Given the description of an element on the screen output the (x, y) to click on. 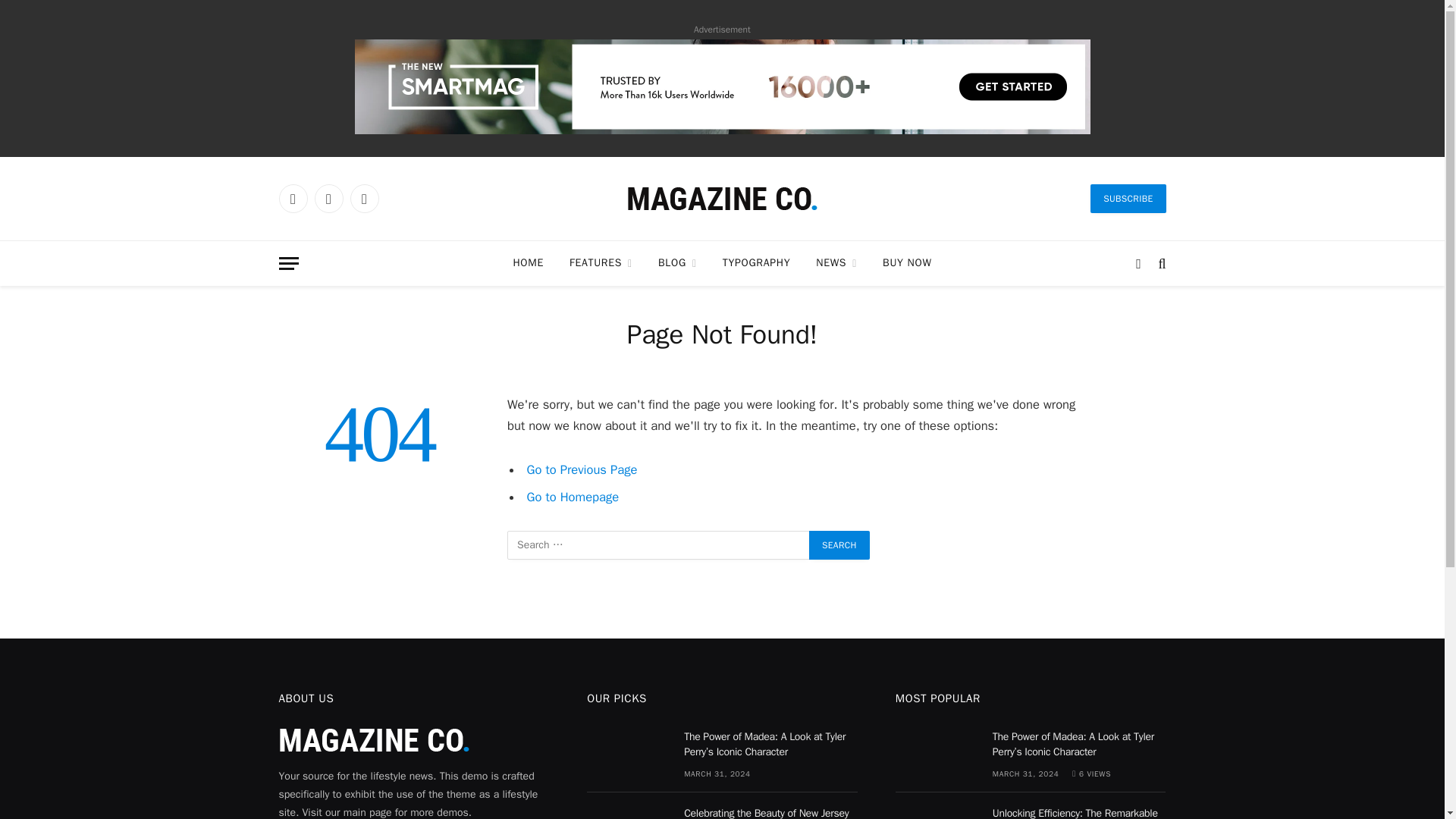
Search (839, 544)
NEWS (836, 262)
6 Article Views (1090, 773)
Instagram (364, 198)
BUY NOW (906, 262)
HOME (527, 262)
Eosty (721, 198)
BLOG (677, 262)
Switch to Dark Design - easier on eyes. (1138, 263)
Search (839, 544)
SUBSCRIBE (1128, 198)
FEATURES (600, 262)
TYPOGRAPHY (756, 262)
Facebook (293, 198)
